Given the description of an element on the screen output the (x, y) to click on. 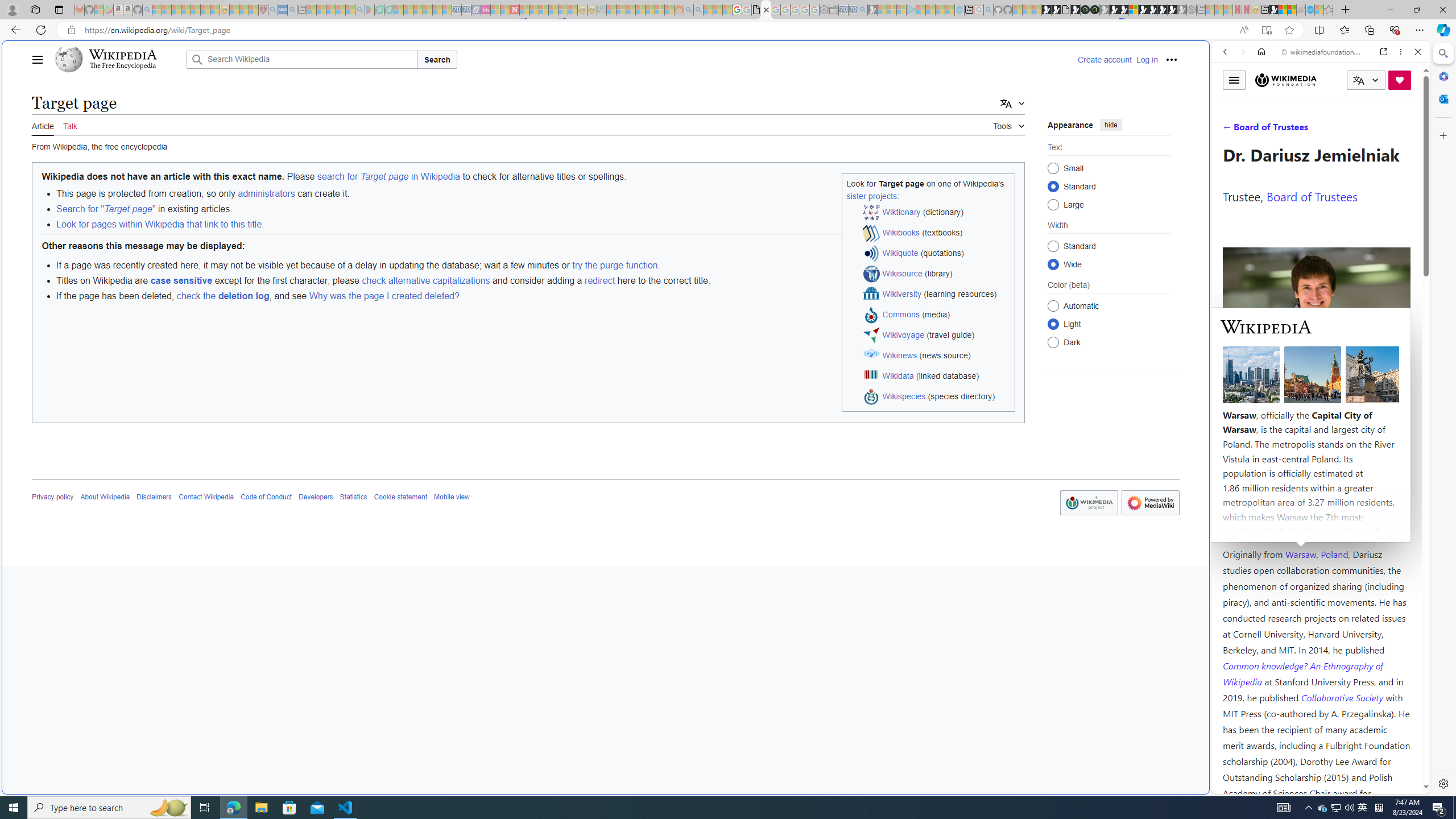
Wikimedia Foundation (1286, 79)
Powered by MediaWiki (1150, 502)
Wallet - Sleeping (833, 9)
Disclaimers (153, 496)
Close Customize pane (1442, 135)
Wikiversity (learning resources) (936, 294)
Search Filter, Search Tools (1350, 129)
Small (1053, 167)
